Given the description of an element on the screen output the (x, y) to click on. 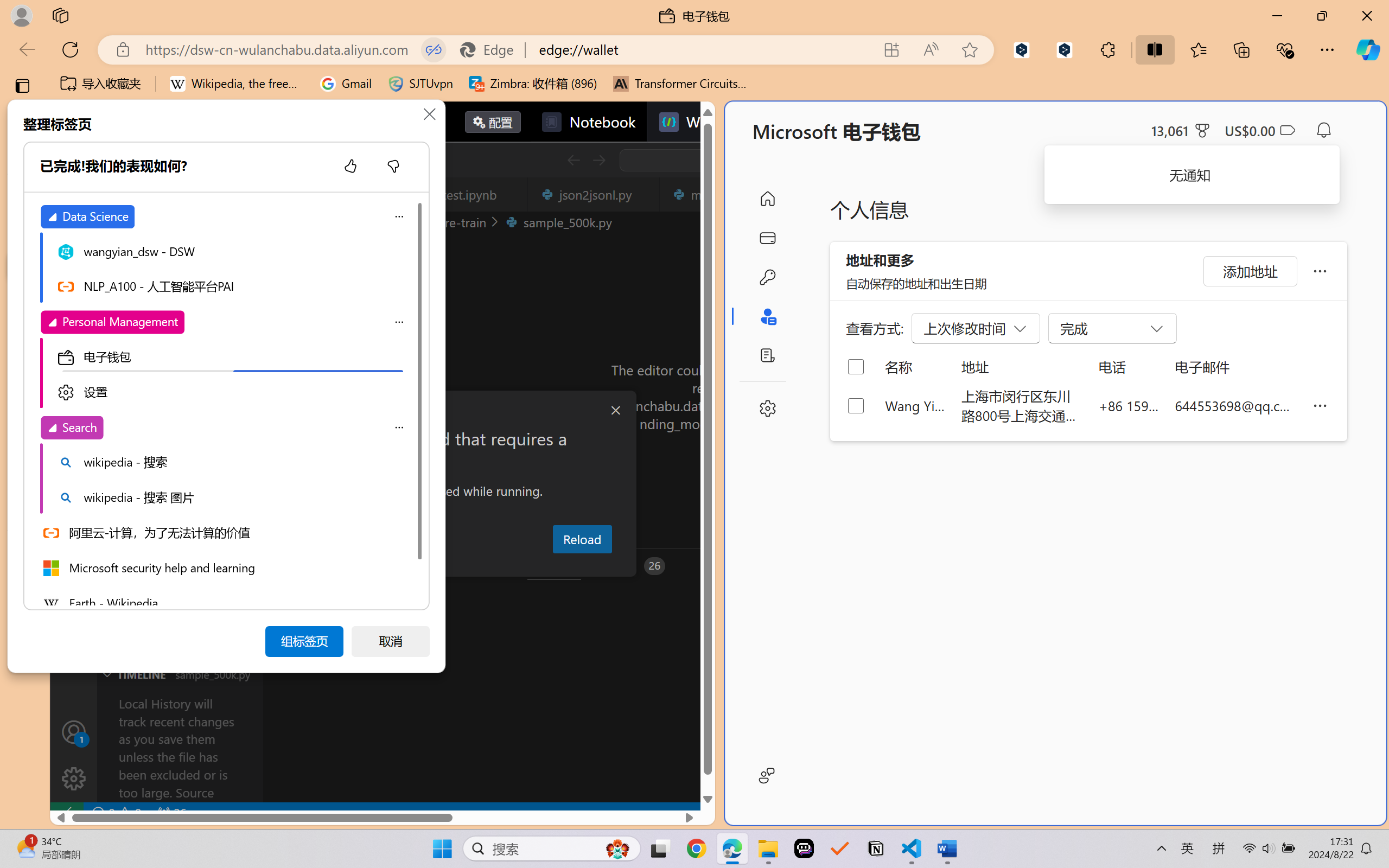
No Problems (115, 812)
